Given the description of an element on the screen output the (x, y) to click on. 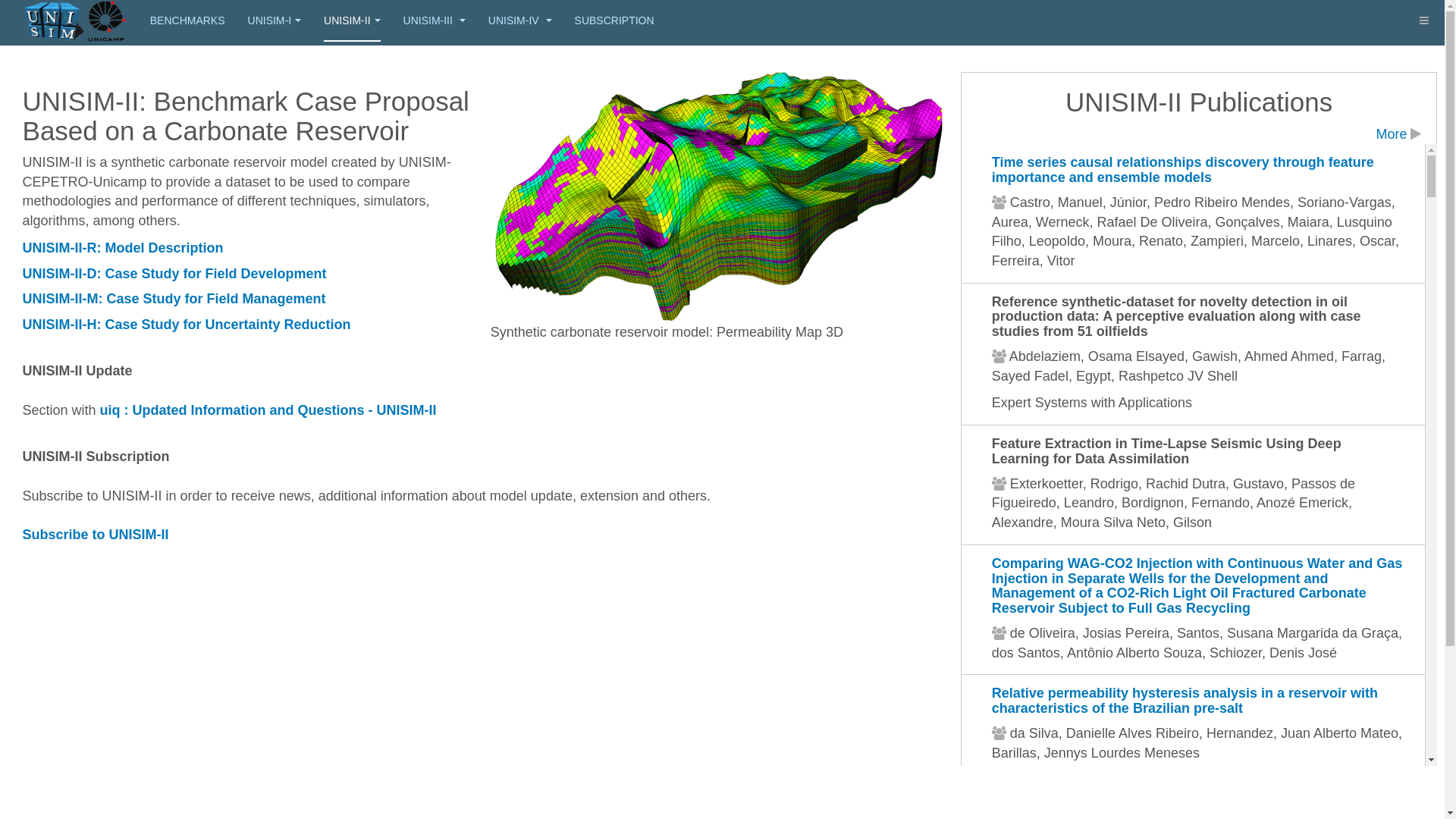
UNISIM-I Element type: text (274, 20)
More Element type: text (1398, 134)
UNISIM-II-R: Model Description Element type: text (122, 247)
UNISIM-IV Element type: text (520, 20)
UNISIM-II-H: Case Study for Uncertainty Reduction Element type: text (186, 324)
uiq : Updated Information and Questions - UNISIM-II Element type: text (268, 409)
UNISIM-II-M: Case Study for Field Management Element type: text (174, 298)
Subscribe to UNISIM-II Element type: text (95, 534)
UNISIM-III Element type: text (434, 20)
BENCHMARKS Element type: text (187, 20)
UNISIM-II-D: Case Study for Field Development Element type: text (174, 273)
UNISIM-II Element type: text (351, 20)
SUBSCRIPTION Element type: text (614, 20)
